Given the description of an element on the screen output the (x, y) to click on. 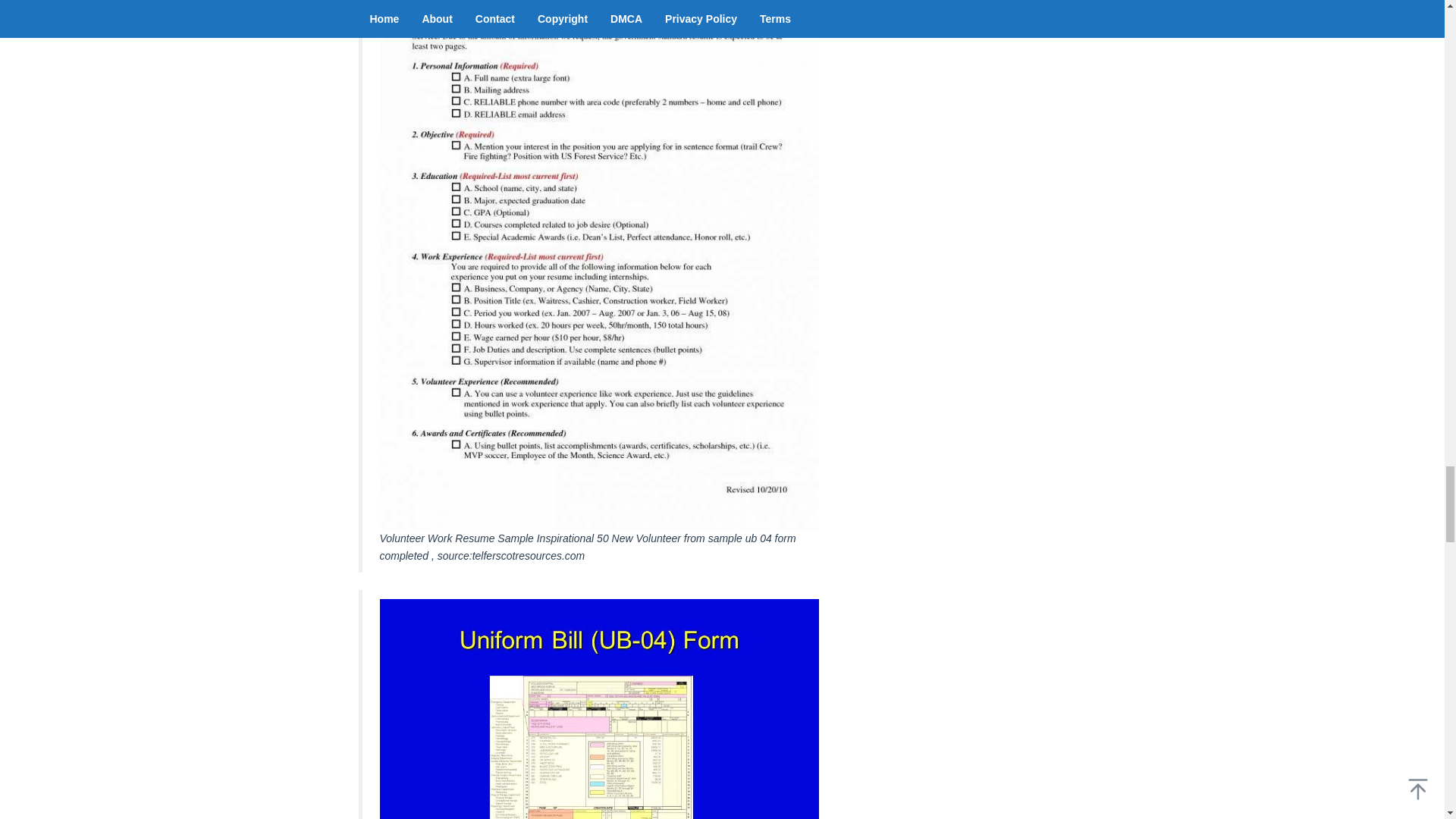
What is A Ub 04 form (598, 708)
